Given the description of an element on the screen output the (x, y) to click on. 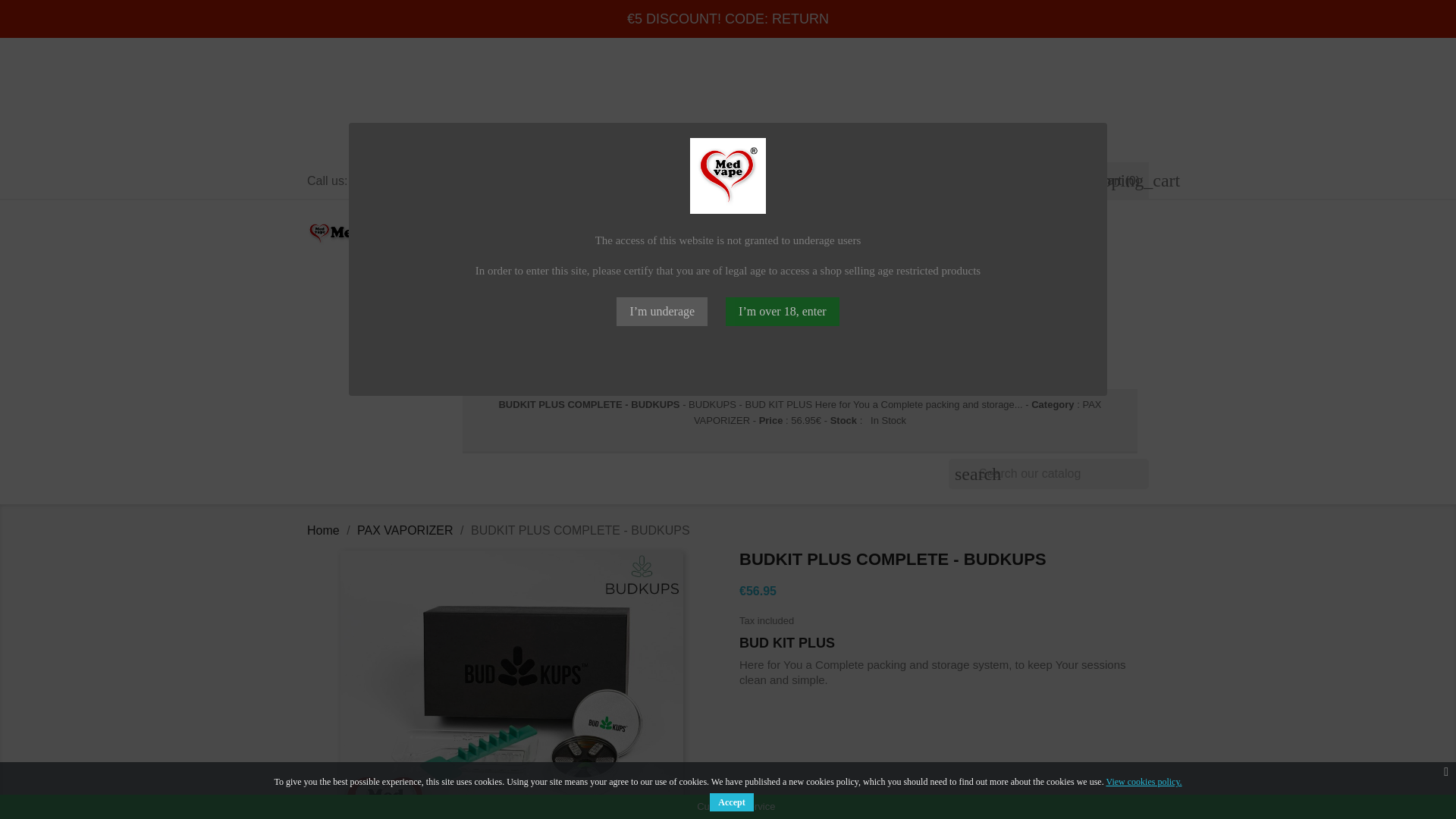
THCH (644, 233)
KANAVAPE (1041, 277)
GRINDER (623, 321)
THCP VAPE (949, 233)
GOLDEN BUDS (515, 300)
GROW TOOLS (676, 255)
MEDSEED.IT (808, 233)
CBD VAPE (958, 255)
ALPHA-CAT (644, 277)
DRY HERBS (705, 321)
DAVINCI (849, 277)
MEDGROW.IT (924, 321)
MEDBUD.IT (1016, 321)
ROLLING-PAPERS (813, 321)
DYNAVAP (726, 277)
